Given the description of an element on the screen output the (x, y) to click on. 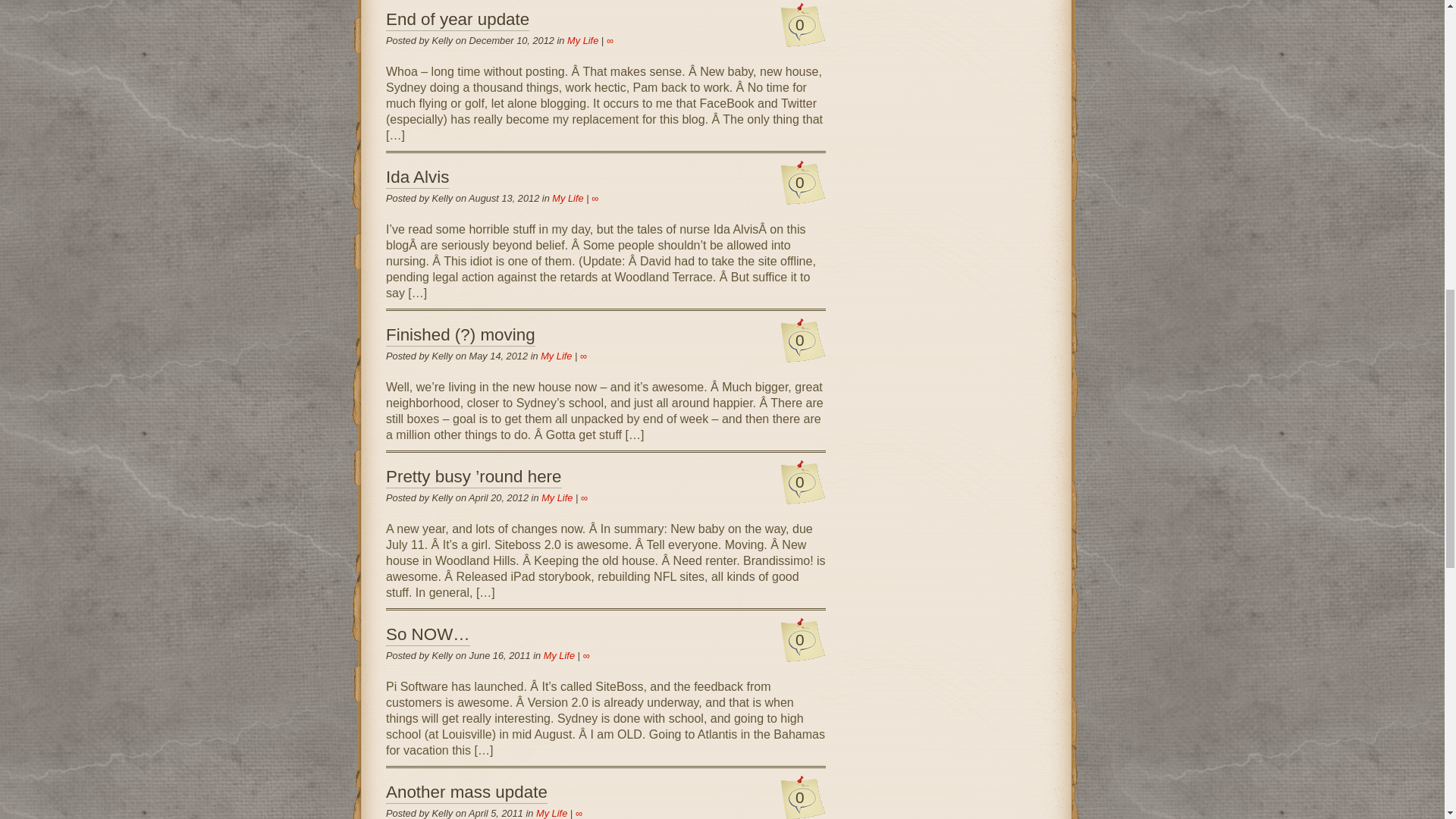
Permanent Link to End of year update (457, 20)
My Life (559, 655)
Permanent Link to Another mass update (466, 792)
End of year update (457, 20)
My Life (556, 497)
My Life (551, 813)
My Life (556, 355)
Permanent Link to Ida Alvis (416, 178)
My Life (567, 197)
Ida Alvis (416, 178)
My Life (582, 40)
Another mass update (466, 792)
